Given the description of an element on the screen output the (x, y) to click on. 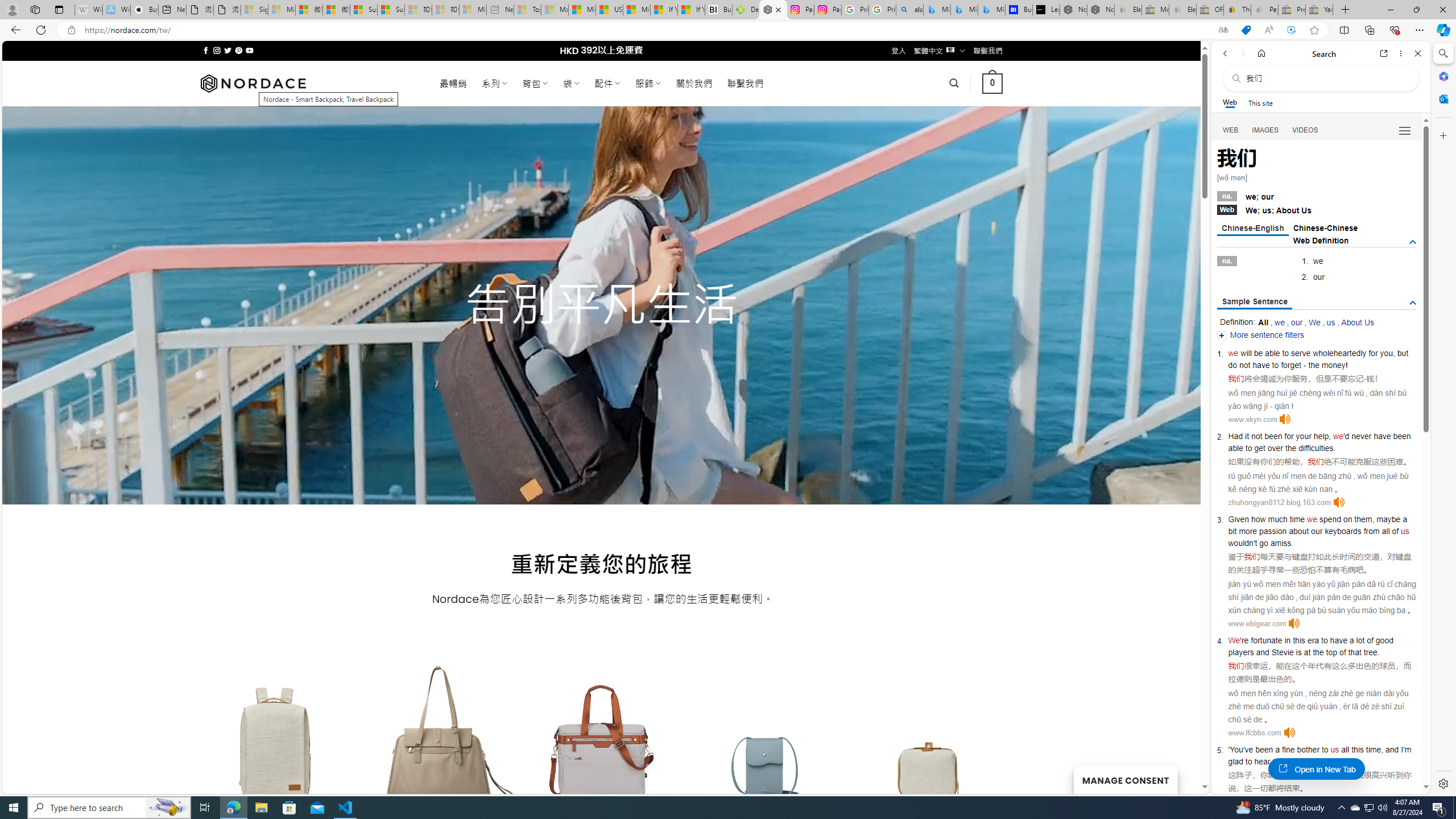
have (1337, 640)
amiss (1280, 542)
Microsoft Bing Travel - Shangri-La Hotel Bangkok (991, 9)
Top Stories - MSN - Sleeping (527, 9)
on (1347, 519)
fortunate (1266, 640)
